Given the description of an element on the screen output the (x, y) to click on. 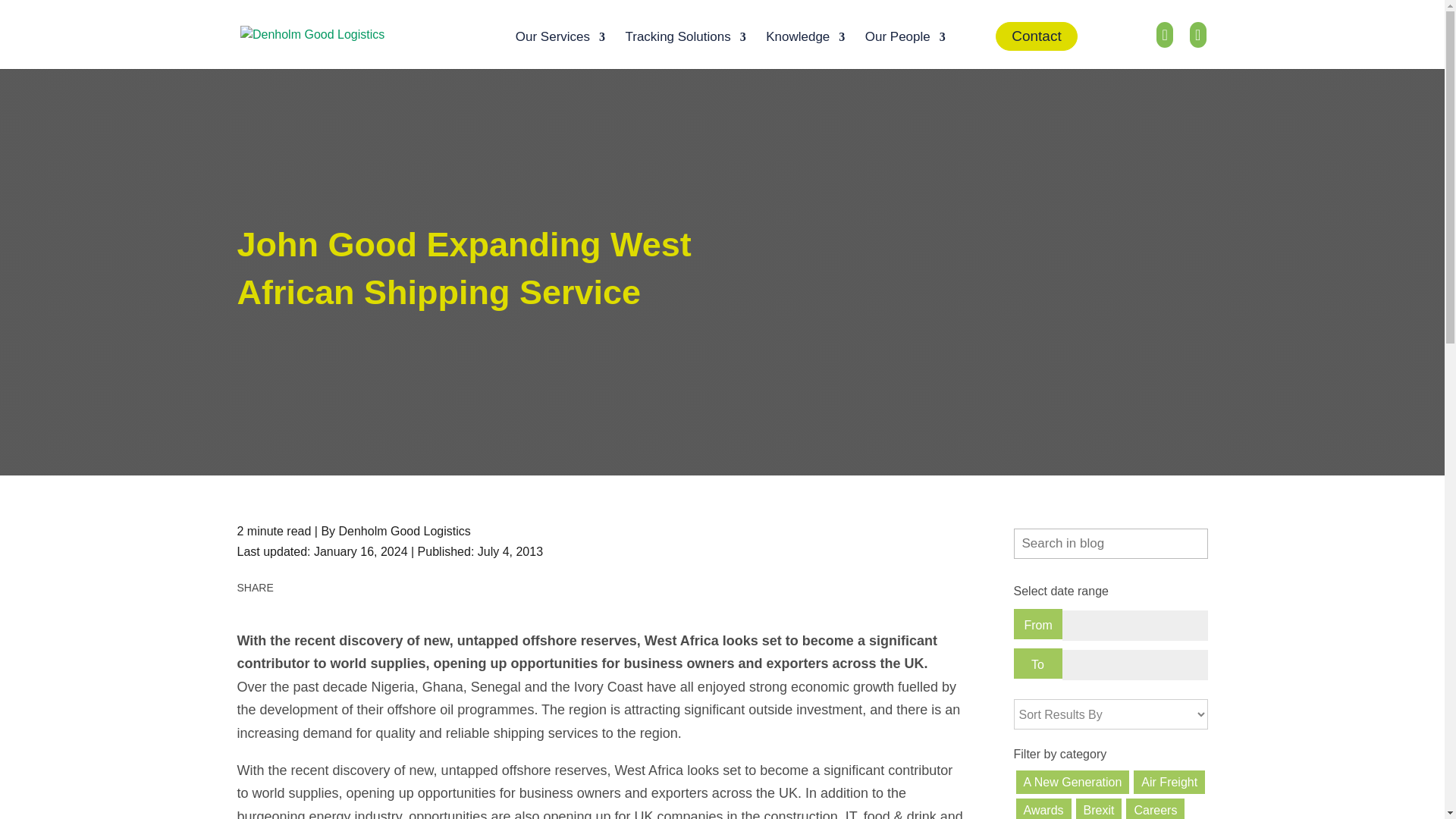
Knowledge (804, 48)
Contact (1036, 36)
Our Services (560, 48)
Tracking Solutions (684, 48)
Our People (904, 48)
